Given the description of an element on the screen output the (x, y) to click on. 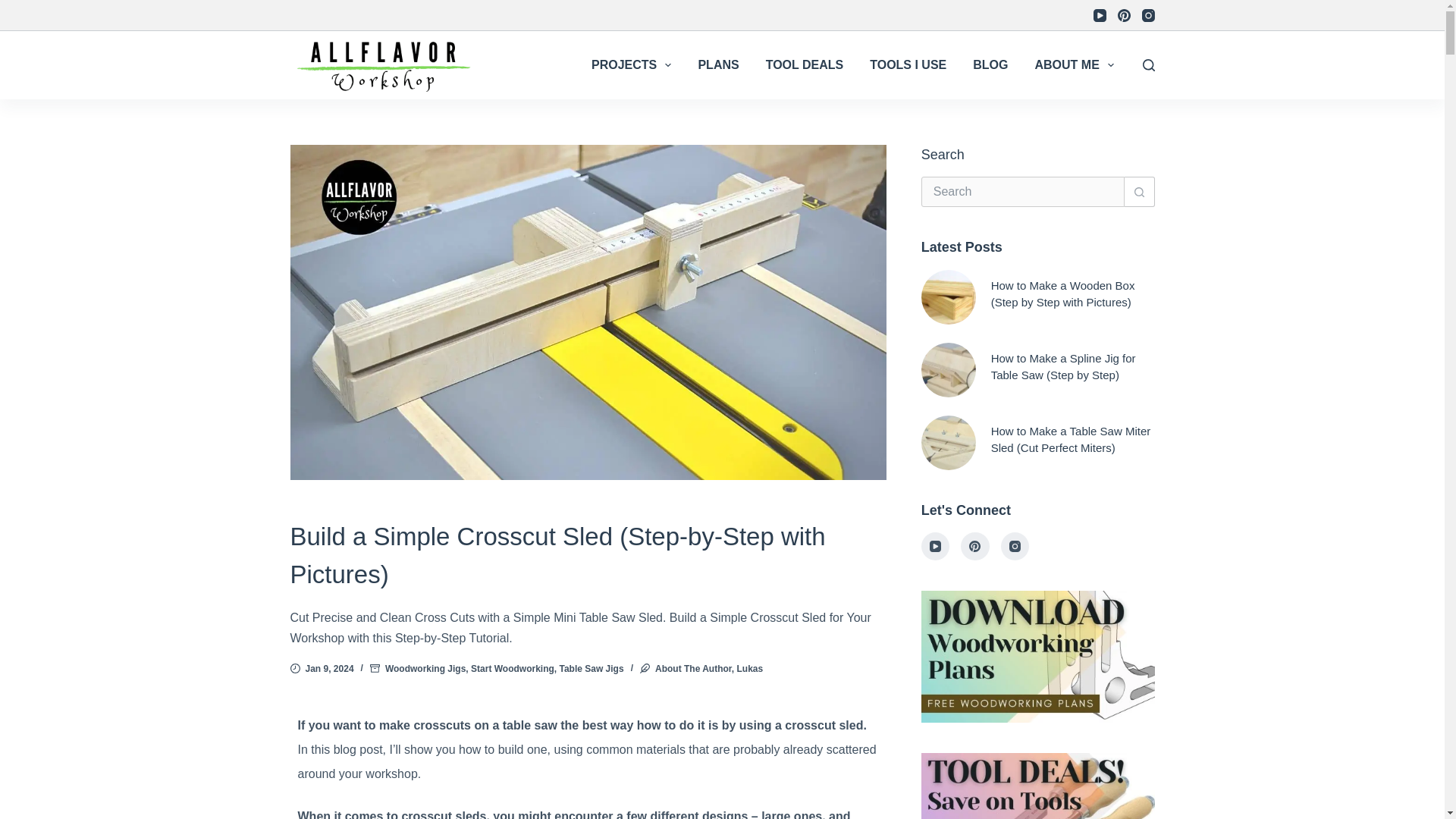
PROJECTS (631, 65)
Search for... (1022, 191)
TOOL DEALS (804, 65)
TOOLS I USE (908, 65)
ABOUT ME (1074, 65)
PLANS (718, 65)
Skip to content (15, 7)
BLOG (990, 65)
Posts by About the author, Lukas (708, 668)
